Given the description of an element on the screen output the (x, y) to click on. 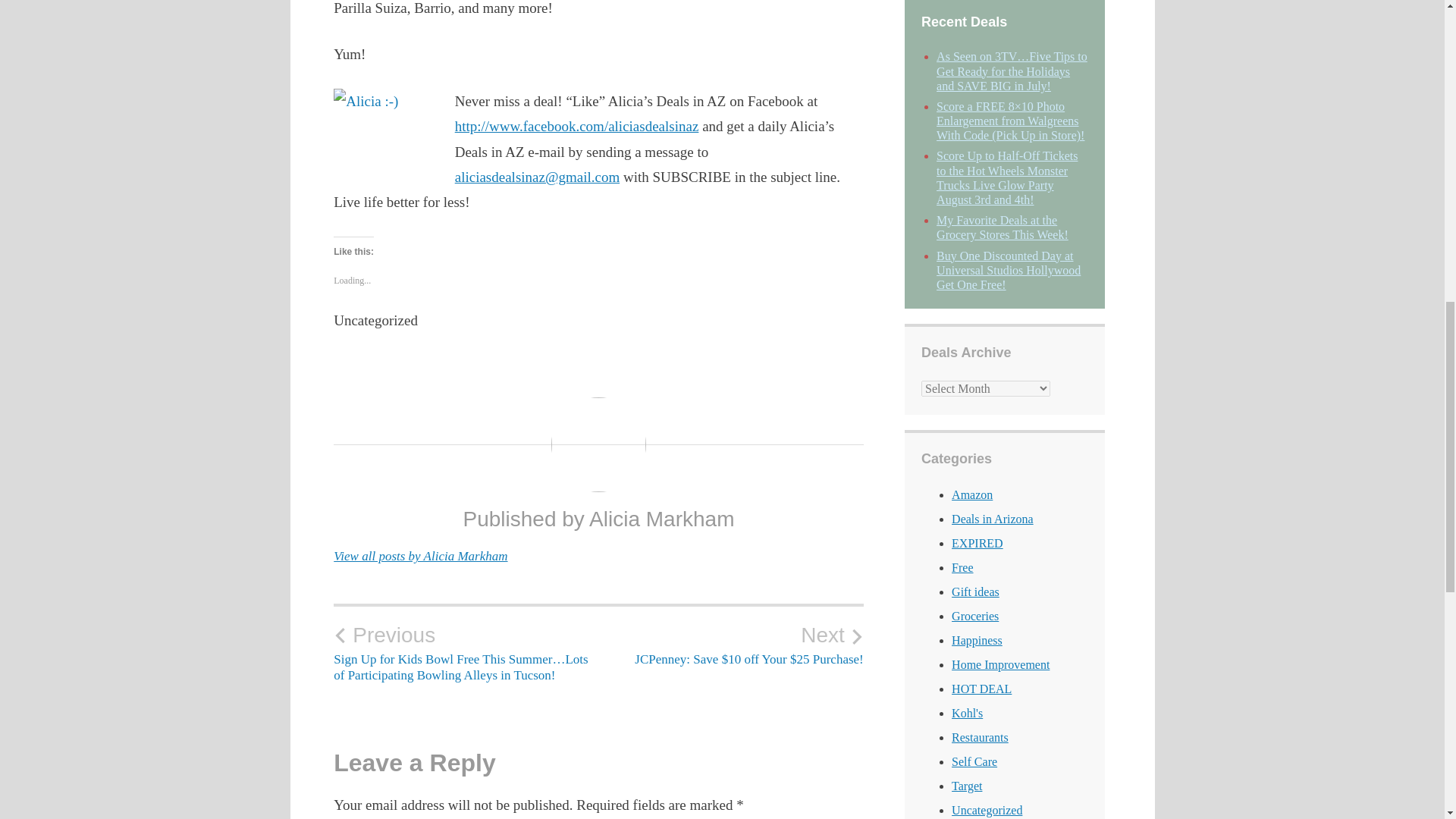
Amazon (972, 494)
My Favorite Deals at the Grocery Stores This Week! (1002, 226)
Gift ideas (975, 591)
Deals in Arizona (992, 518)
View all posts by Alicia Markham (419, 555)
Groceries (975, 615)
Free (962, 567)
signature (382, 120)
EXPIRED (977, 543)
